Given the description of an element on the screen output the (x, y) to click on. 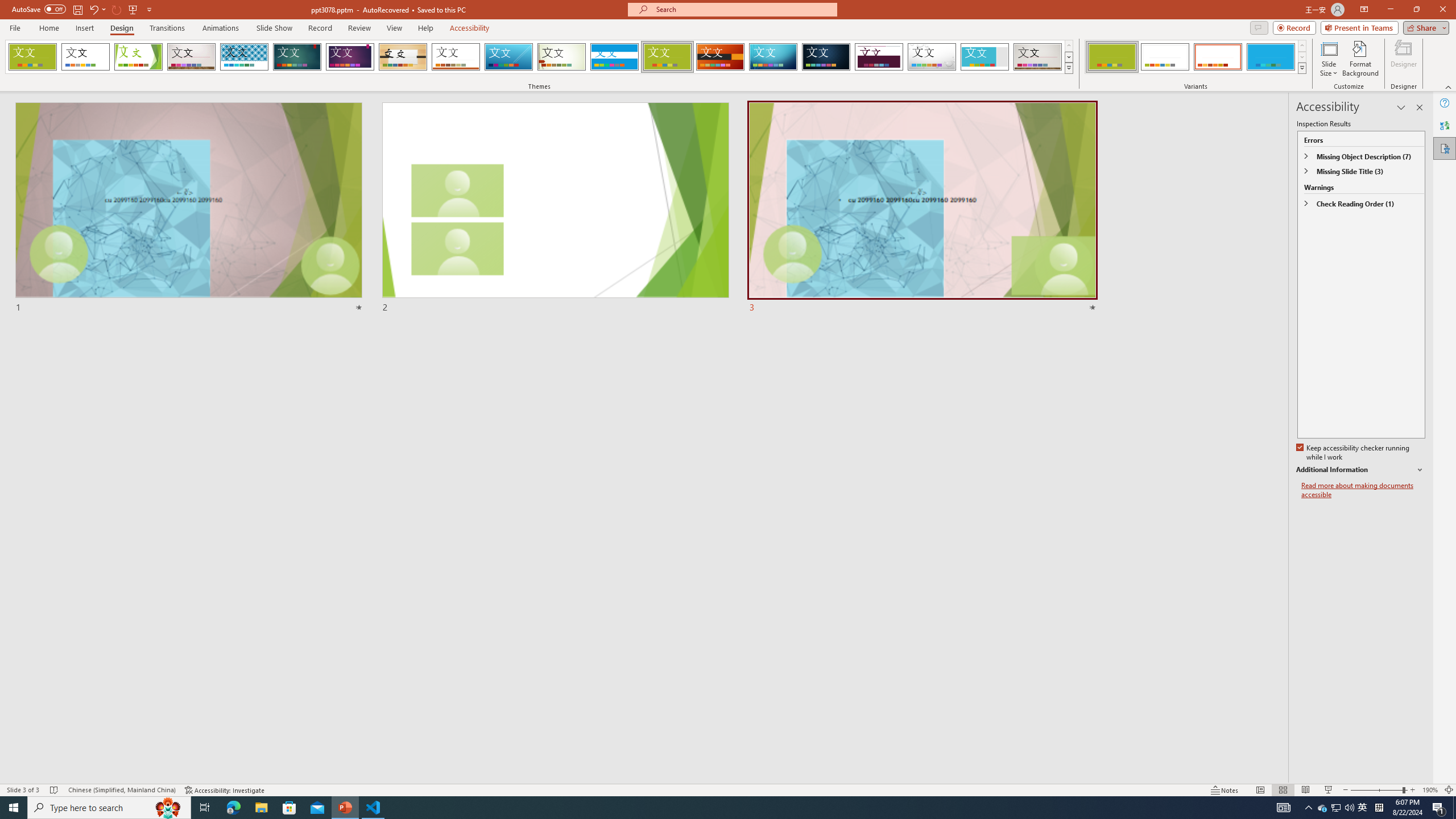
Themes (1068, 67)
Read more about making documents accessible (1363, 489)
Basis Variant 1 (1112, 56)
